Given the description of an element on the screen output the (x, y) to click on. 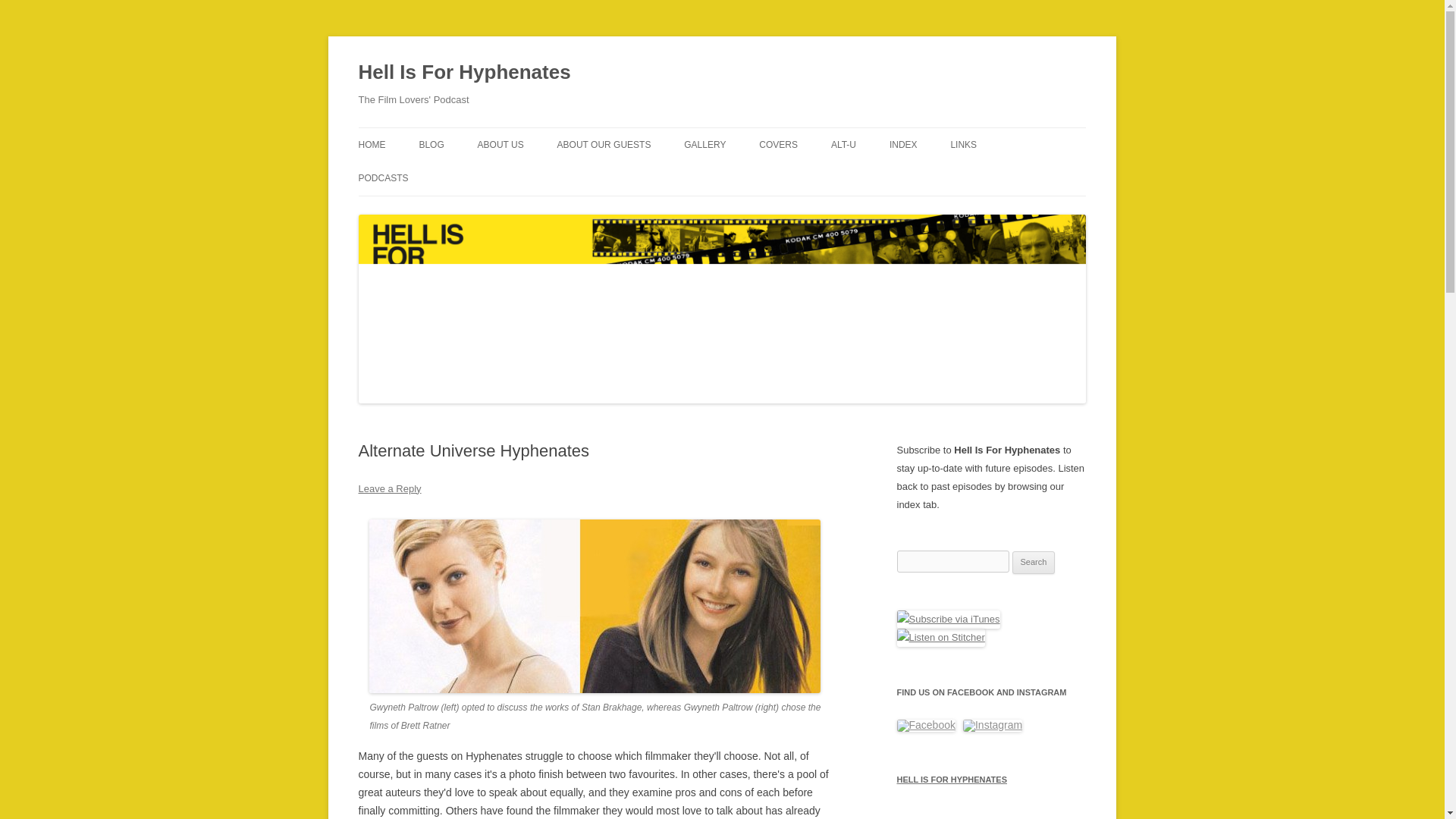
Hell Is For Hyphenates (464, 72)
COVERS (777, 144)
Search (1033, 562)
Find us on Instagram (992, 725)
Like us on Facebook (925, 725)
HELL IS FOR HYPHENATES (991, 779)
PODCASTS (382, 177)
Hell Is For Hyphenates (464, 72)
ABOUT US (500, 144)
Search (1033, 562)
GALLERY (704, 144)
Leave a Reply (389, 488)
ABOUT OUR GUESTS (603, 144)
